Given the description of an element on the screen output the (x, y) to click on. 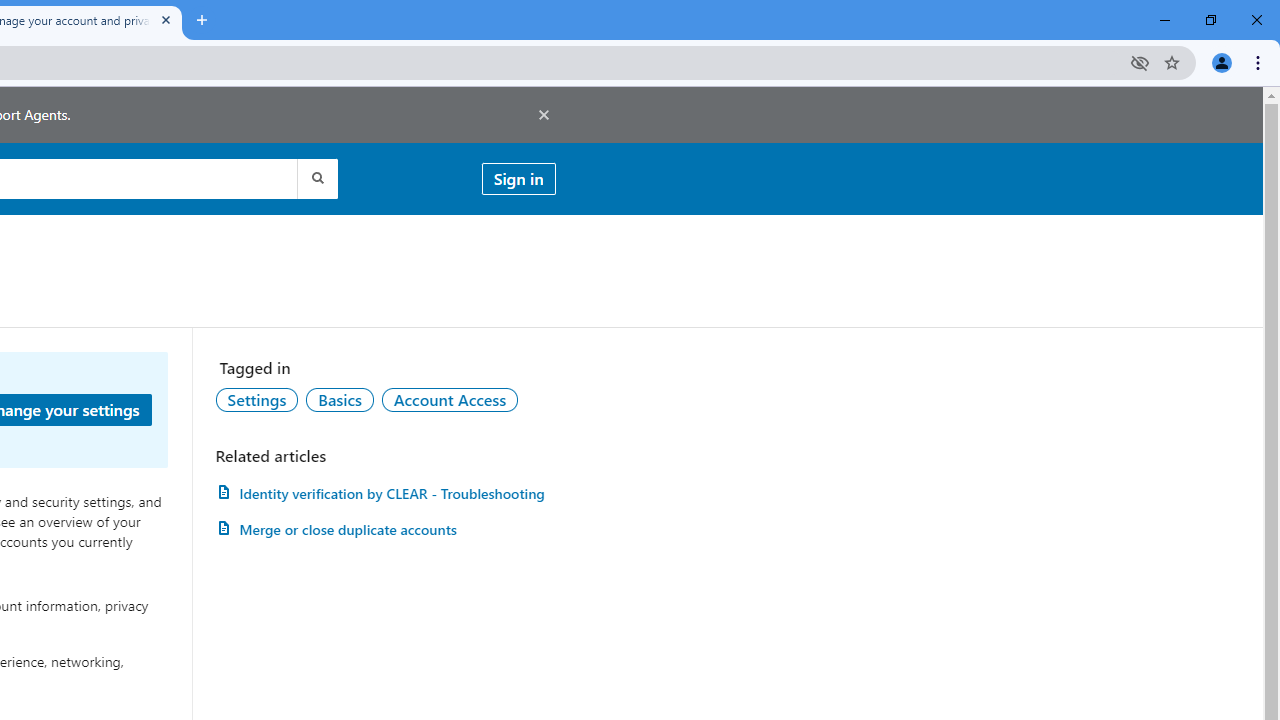
AutomationID: topic-link-a151002 (449, 399)
AutomationID: article-link-a1337200 (385, 529)
Basics (339, 399)
Account Access (449, 399)
AutomationID: article-link-a1457505 (385, 493)
Identity verification by CLEAR - Troubleshooting (385, 493)
Submit search (316, 178)
Merge or close duplicate accounts (385, 529)
AutomationID: topic-link-a51 (339, 399)
